Given the description of an element on the screen output the (x, y) to click on. 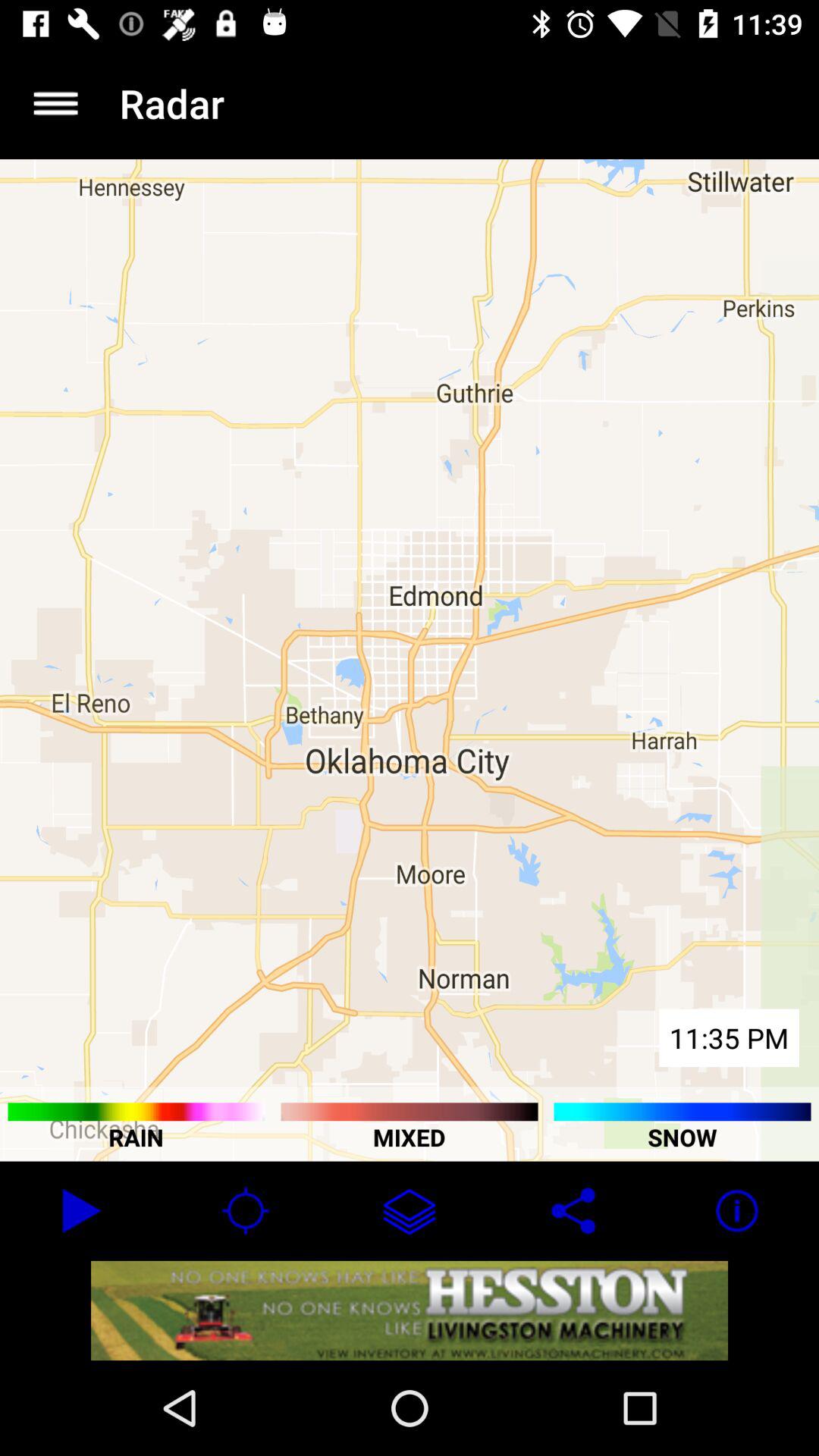
advertising (409, 1310)
